Given the description of an element on the screen output the (x, y) to click on. 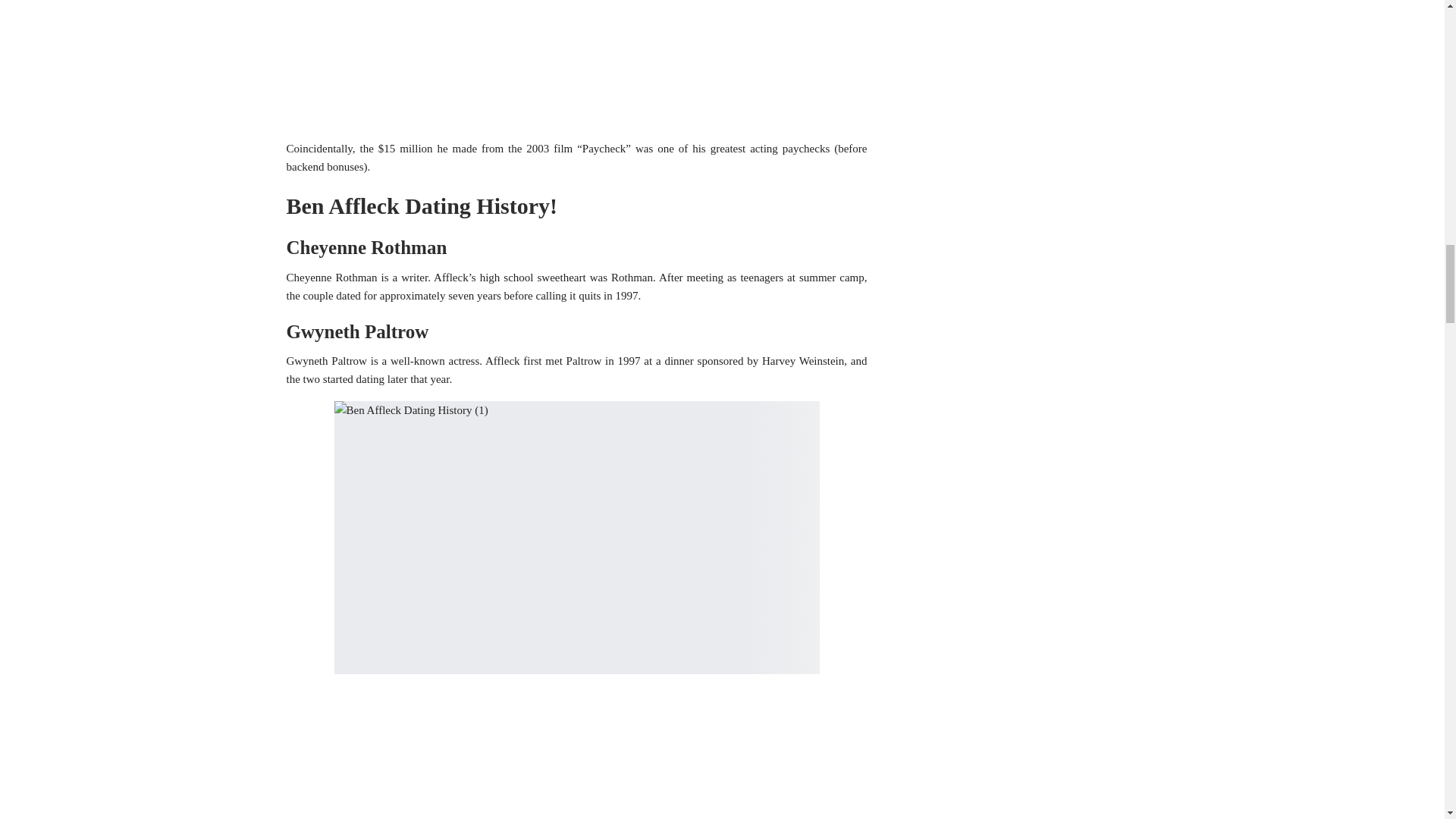
Advertisement (576, 66)
Advertisement (576, 755)
